Given the description of an element on the screen output the (x, y) to click on. 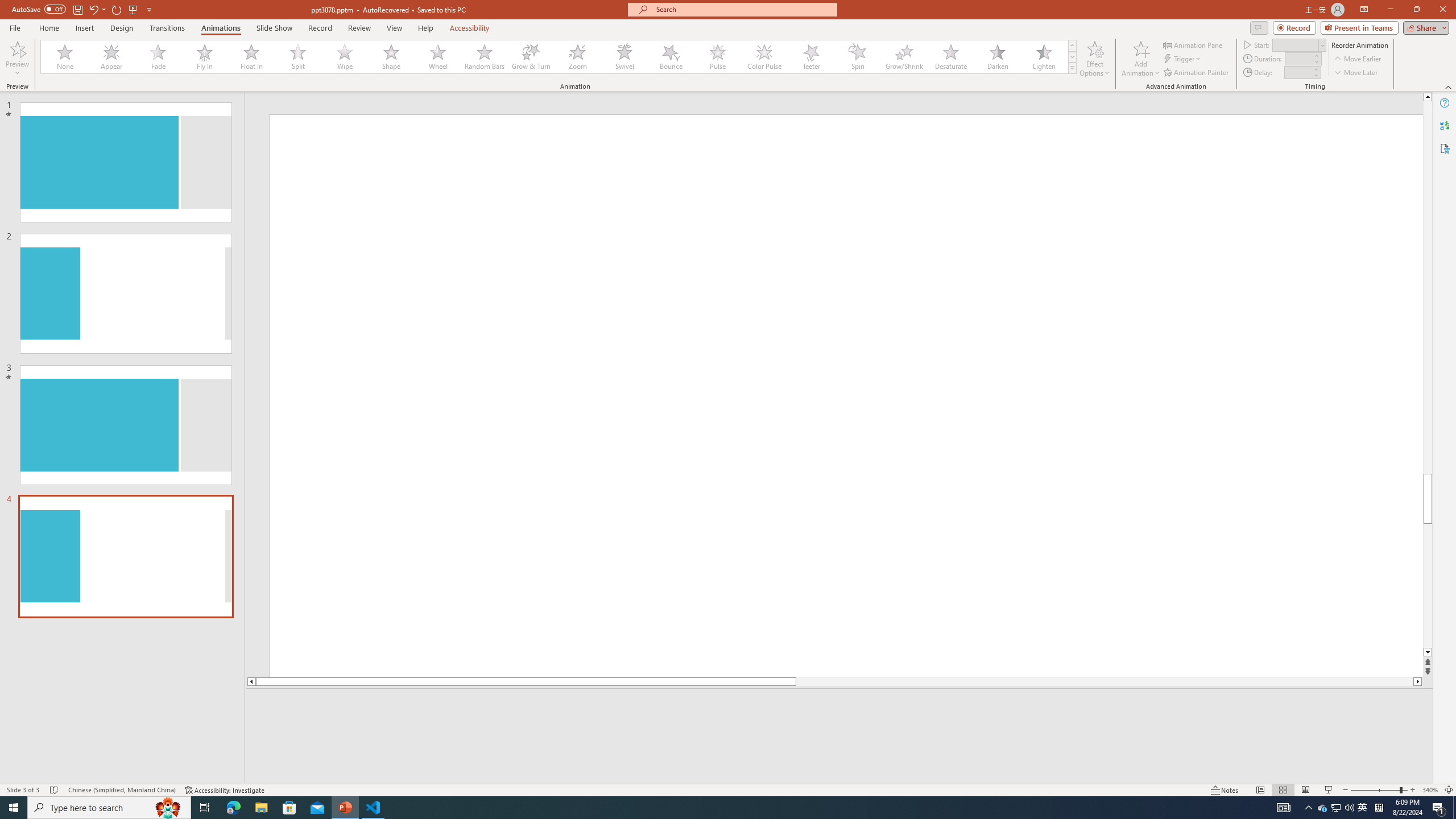
Animation Pane (1193, 44)
Move Earlier (1357, 58)
Float In (251, 56)
AutomationID: AnimationGallery (558, 56)
